Given the description of an element on the screen output the (x, y) to click on. 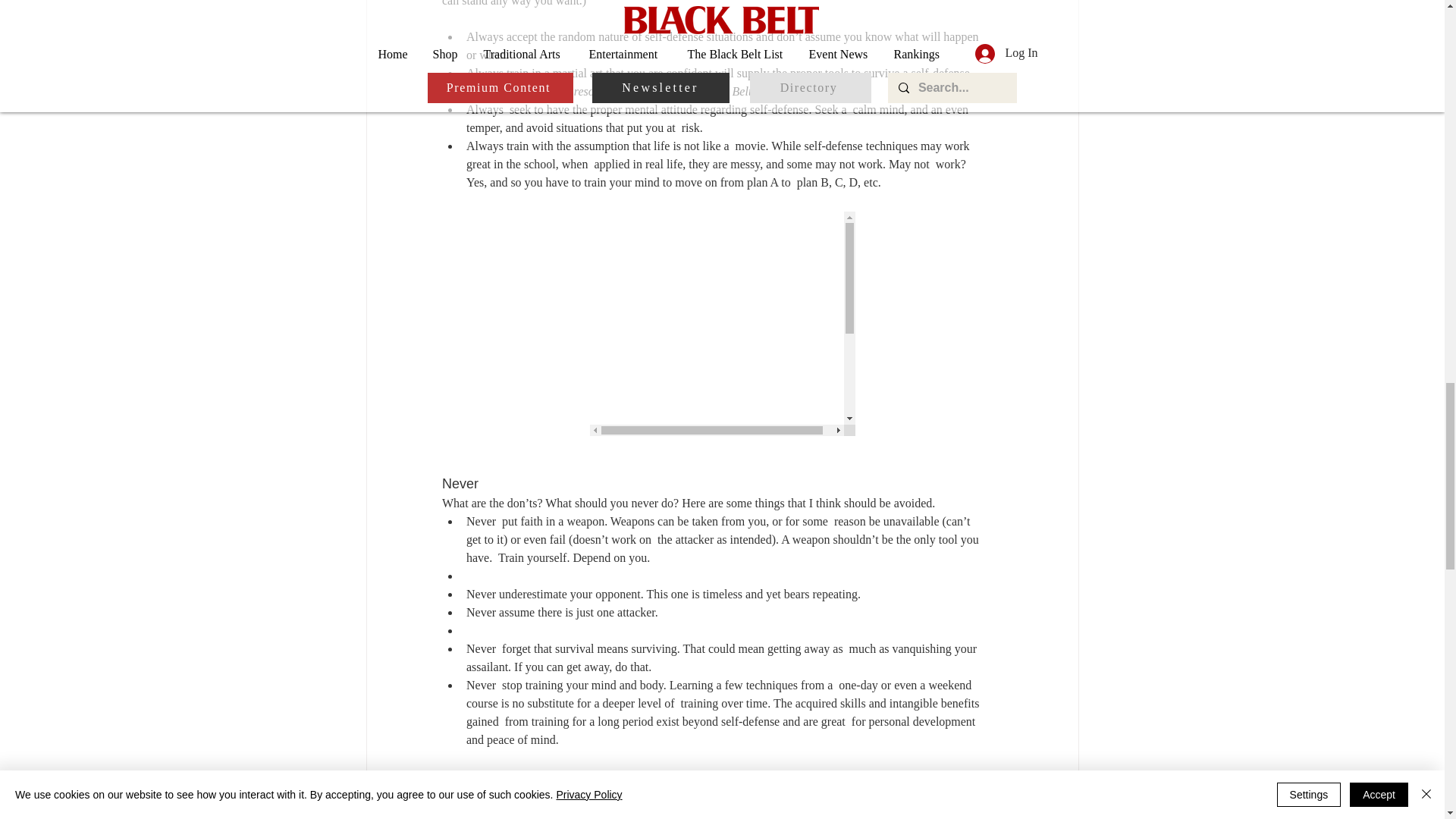
remote content (722, 323)
